Given the description of an element on the screen output the (x, y) to click on. 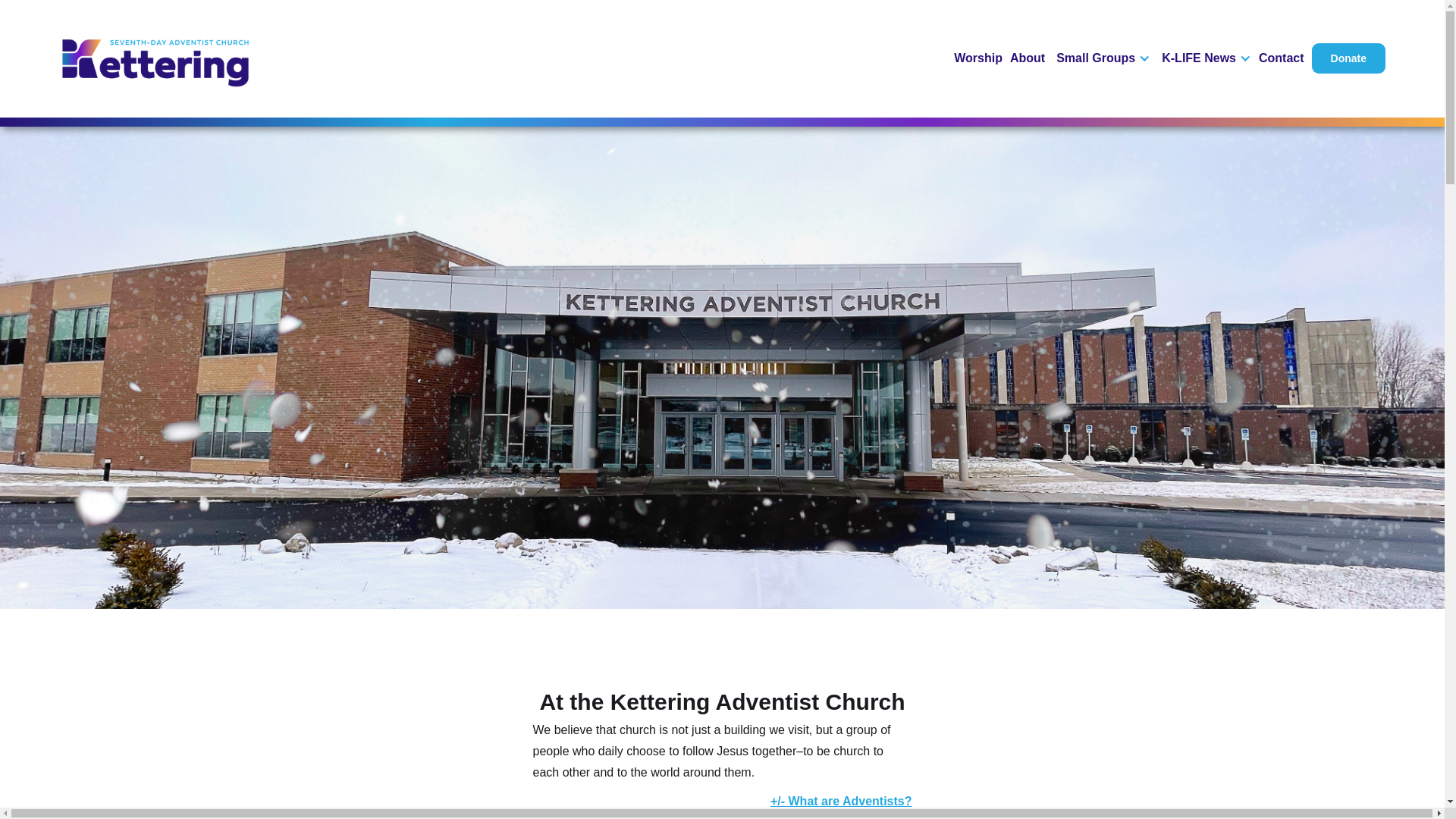
K-LIFE News (1198, 57)
Donate (1348, 58)
Small Groups (1096, 57)
Worship (978, 57)
Contact (1281, 57)
About (1027, 57)
